Given the description of an element on the screen output the (x, y) to click on. 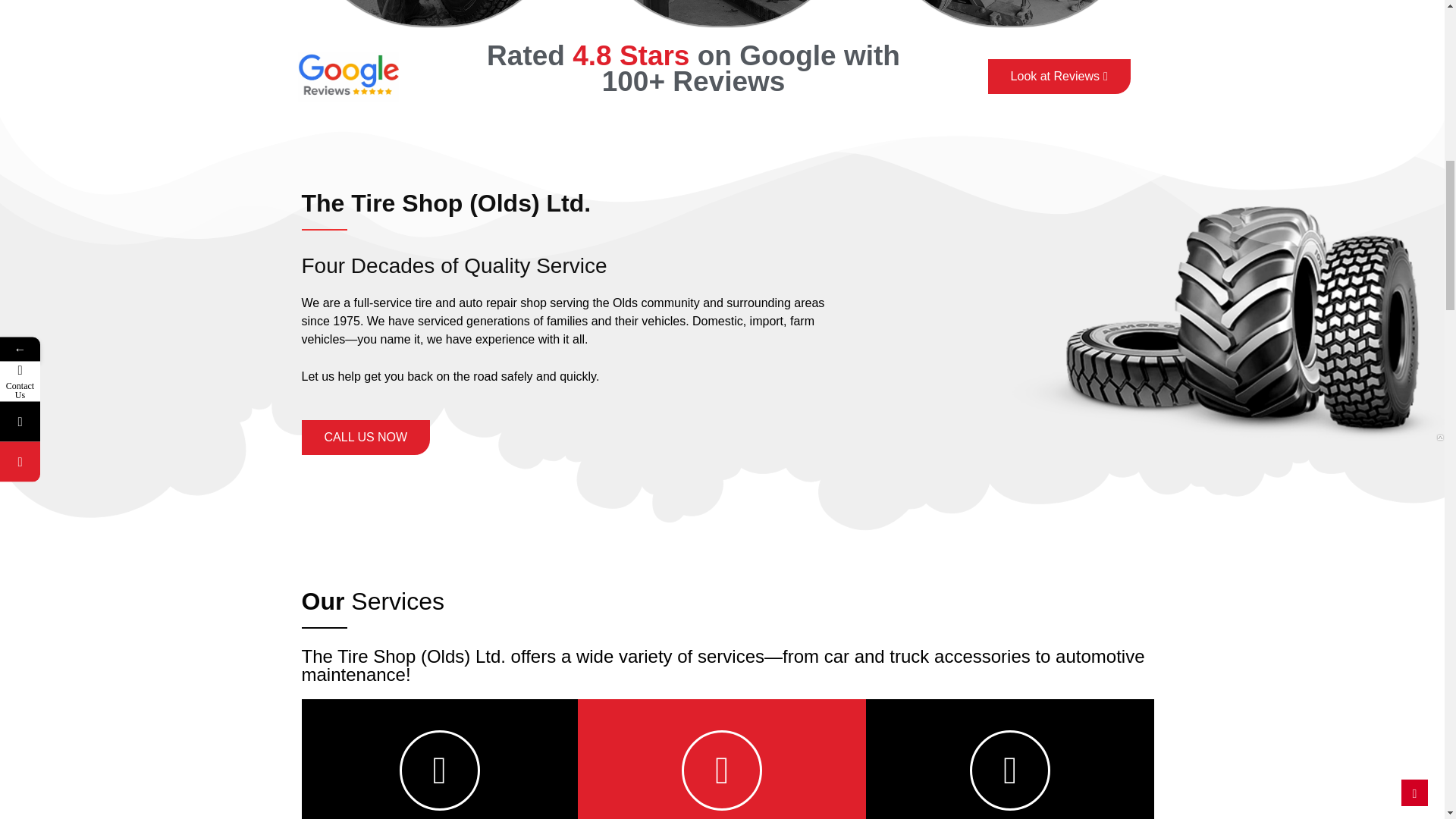
Look at Reviews (1059, 76)
CALL US NOW (365, 437)
Learn More (439, 732)
Learn More (722, 723)
Learn More (1010, 736)
